Given the description of an element on the screen output the (x, y) to click on. 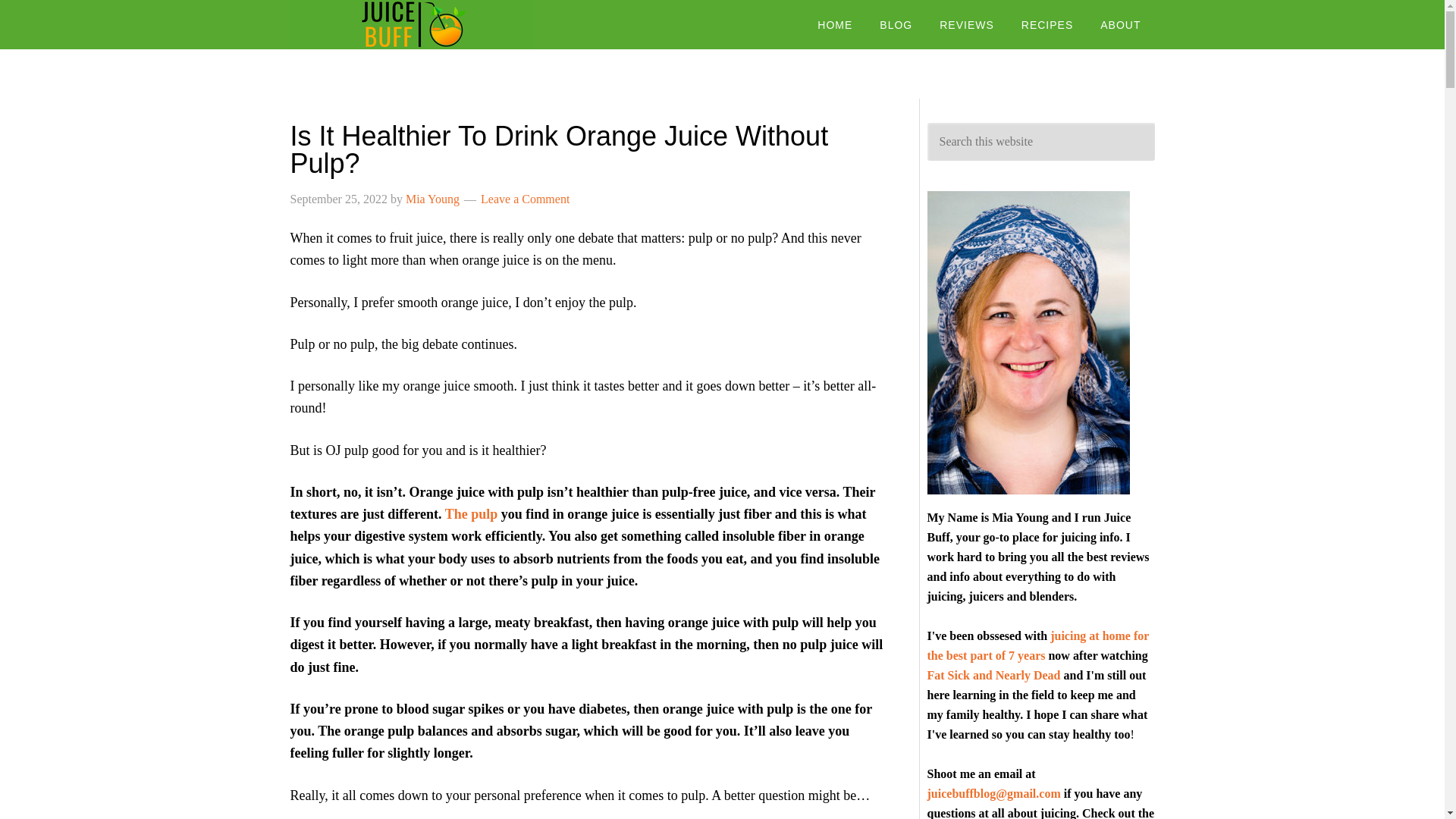
BLOG (896, 24)
Mia Young (433, 198)
ABOUT (1120, 24)
JUICE BUFF (410, 24)
The pulp (469, 513)
HOME (834, 24)
REVIEWS (966, 24)
